Given the description of an element on the screen output the (x, y) to click on. 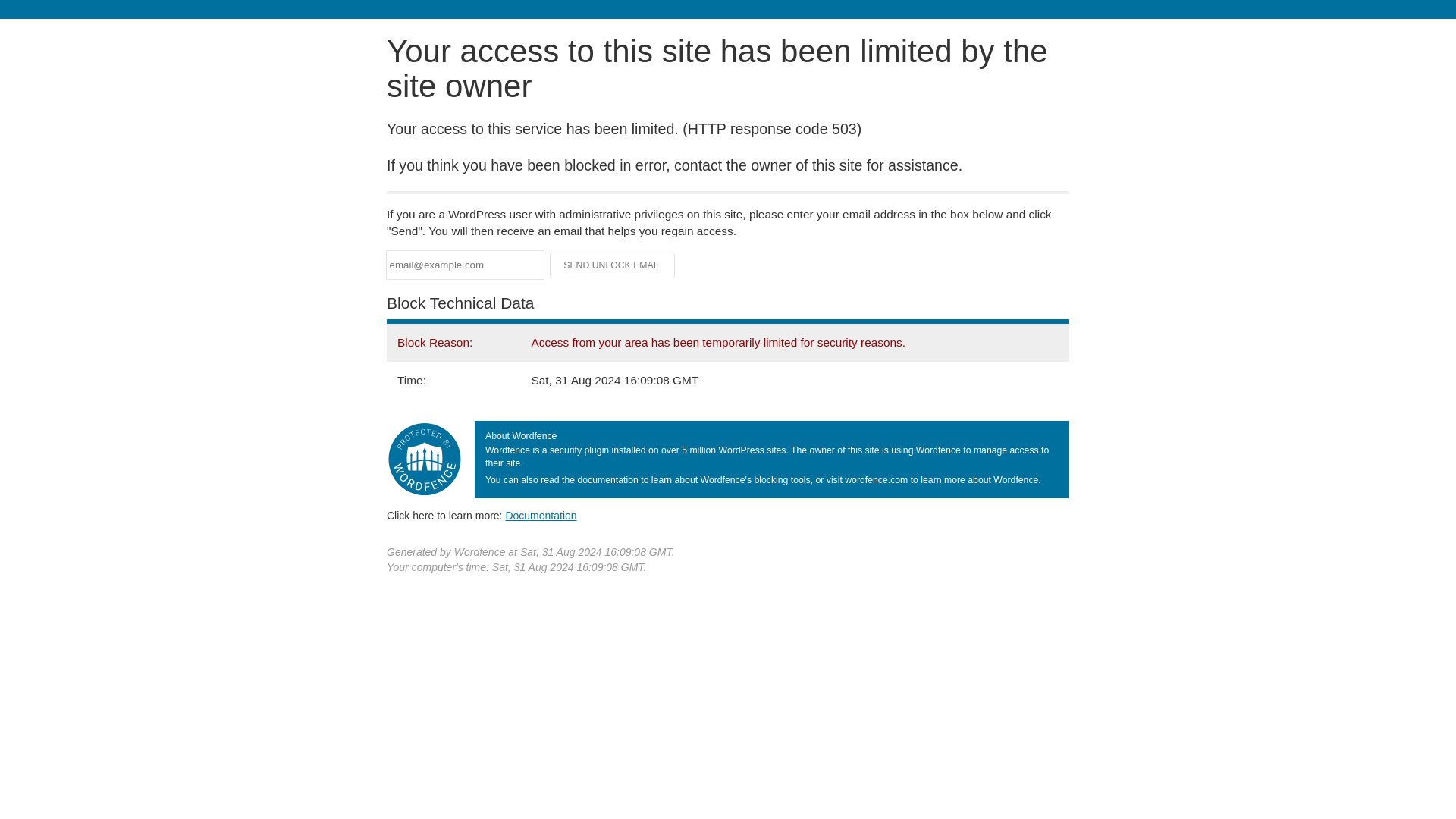
Documentation (540, 515)
Send Unlock Email (612, 265)
Send Unlock Email (612, 265)
